Given the description of an element on the screen output the (x, y) to click on. 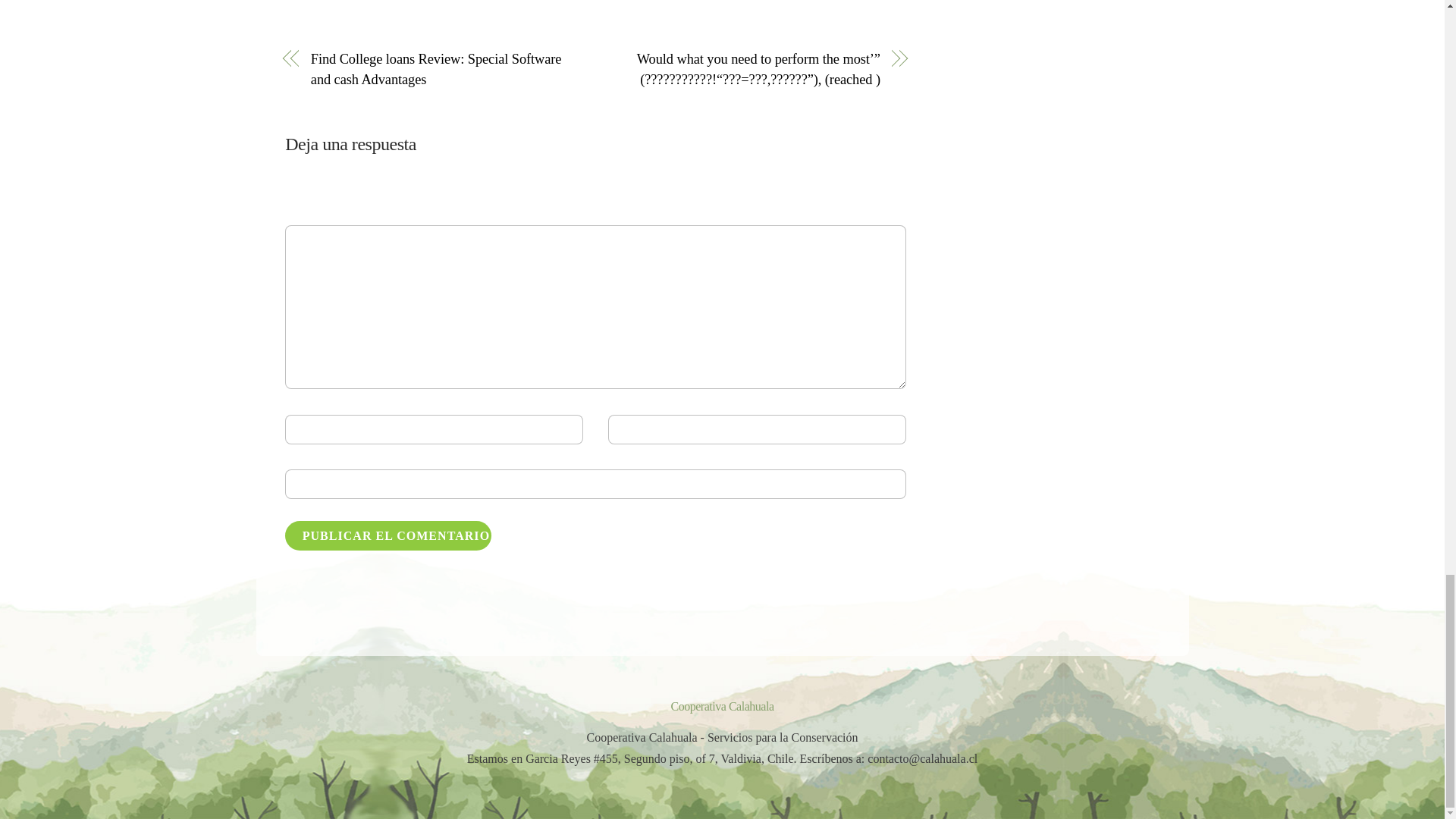
Cooperativa Calahuala (721, 706)
Publicar el comentario (388, 535)
Cooperativa Calahuala (721, 706)
Publicar el comentario (388, 535)
